Given the description of an element on the screen output the (x, y) to click on. 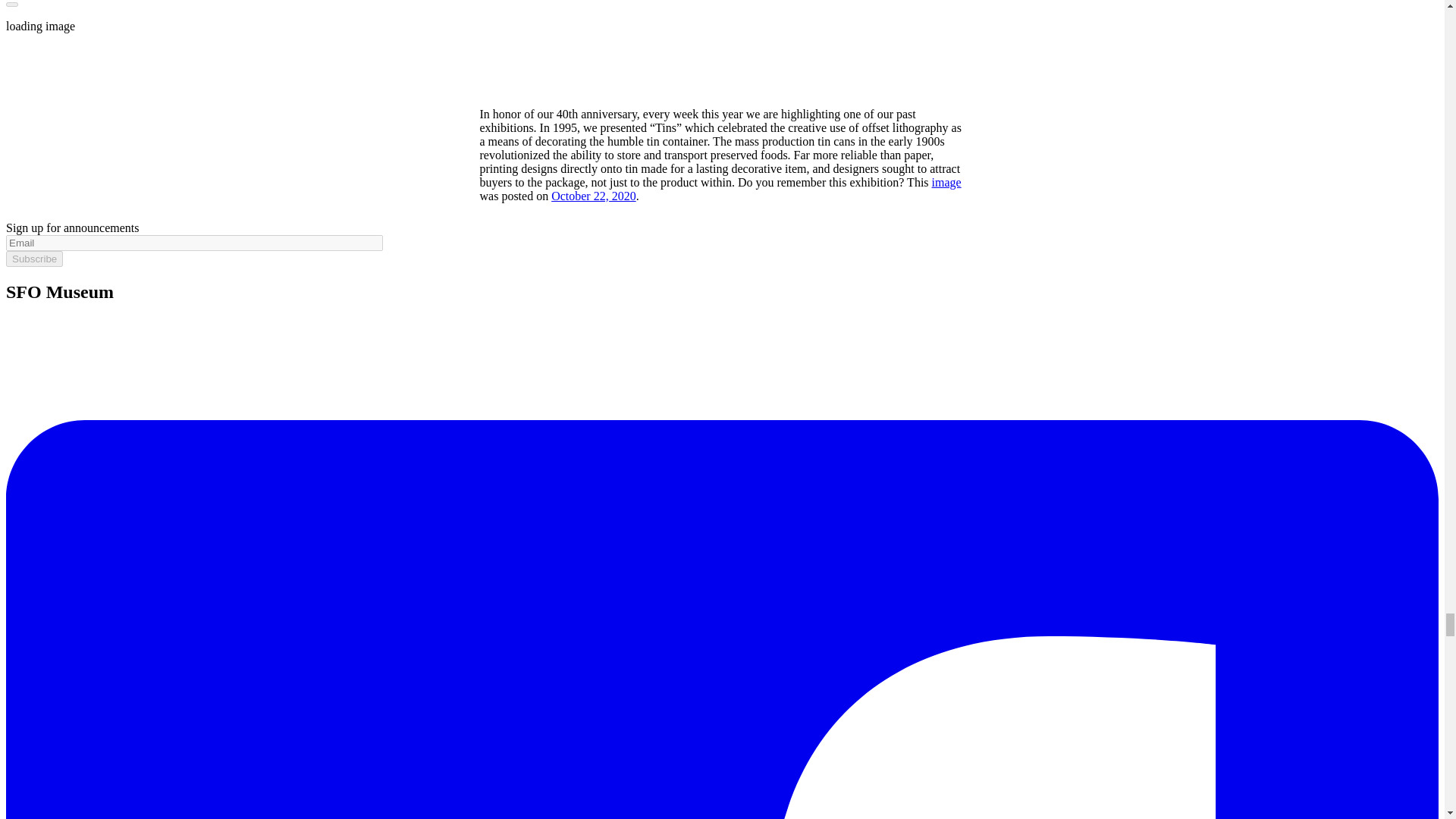
View this image in full screen mode (11, 4)
Subscribe (33, 258)
